Given the description of an element on the screen output the (x, y) to click on. 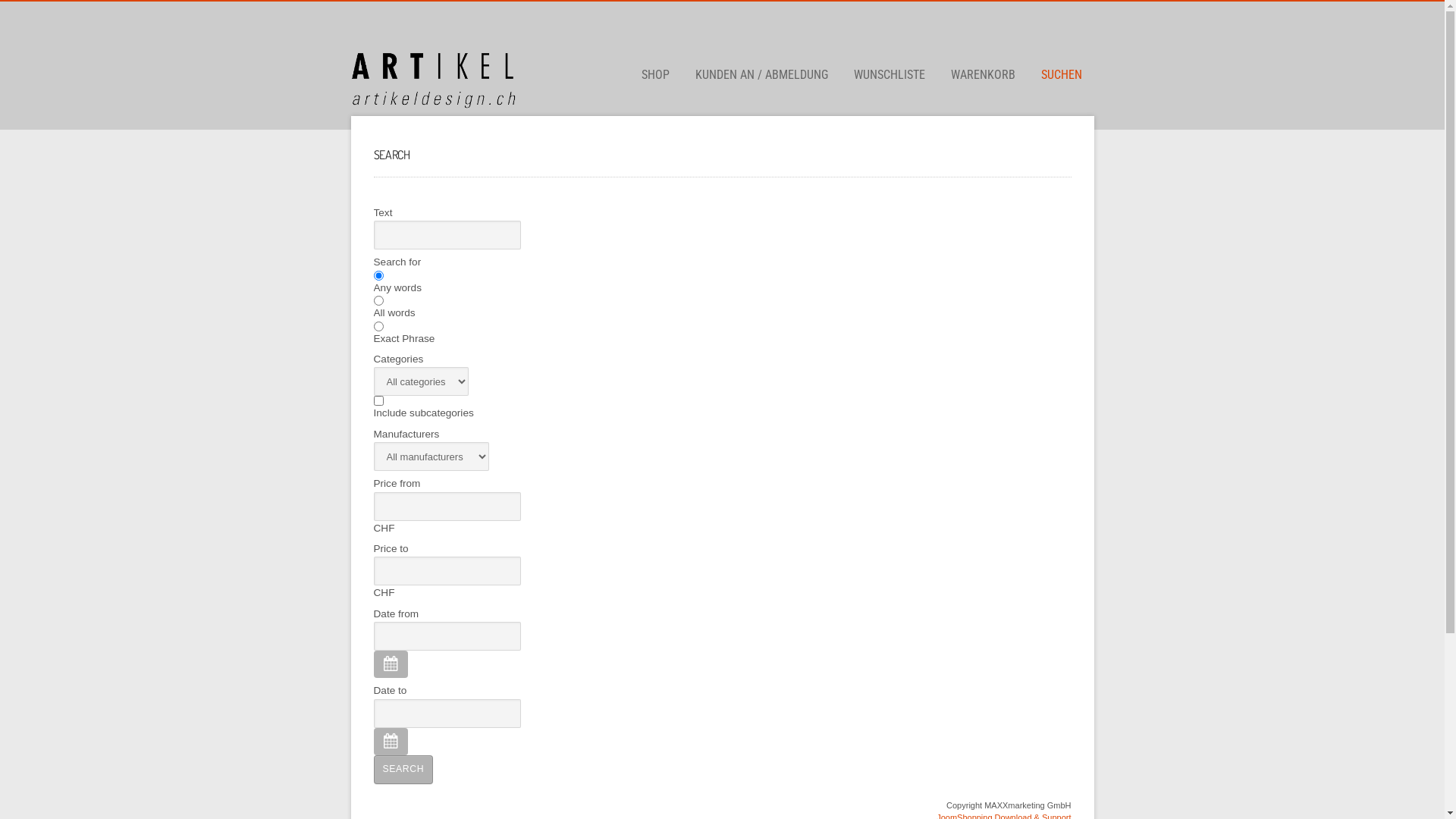
Open the calendar Element type: hover (390, 663)
WARENKORB Element type: text (982, 74)
Search Element type: text (403, 769)
KUNDEN AN / ABMELDUNG Element type: text (760, 74)
WUNSCHLISTE Element type: text (889, 74)
SUCHEN Element type: text (1060, 74)
Open the calendar Element type: hover (390, 741)
SHOP Element type: text (655, 74)
